Given the description of an element on the screen output the (x, y) to click on. 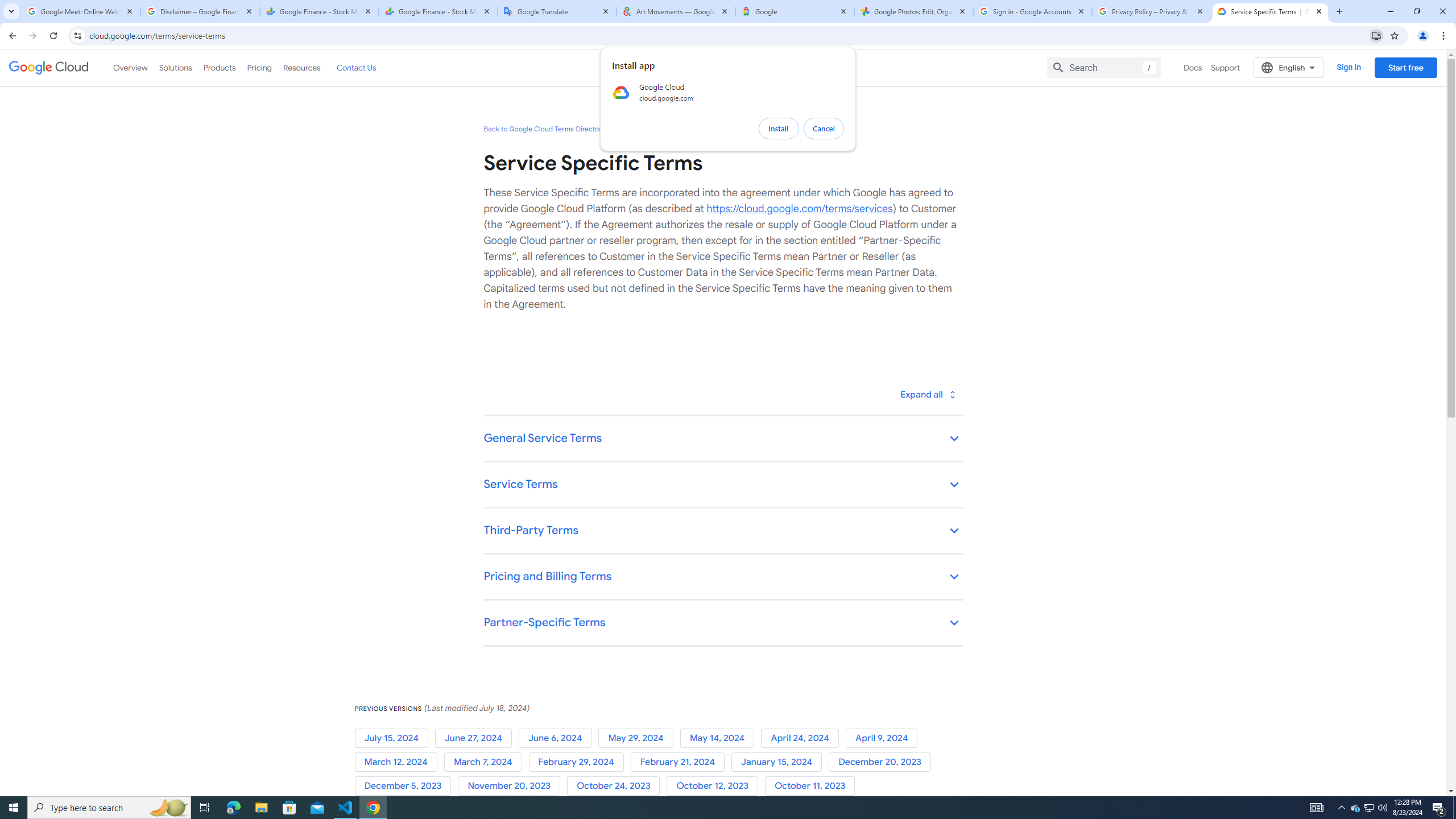
Third-Party Terms keyboard_arrow_down (722, 531)
December 20, 2023 (882, 761)
June 6, 2024 (558, 737)
Cancel (823, 128)
Google (794, 11)
Products (218, 67)
https://cloud.google.com/terms/services (799, 208)
Solutions (175, 67)
February 29, 2024 (579, 761)
